Given the description of an element on the screen output the (x, y) to click on. 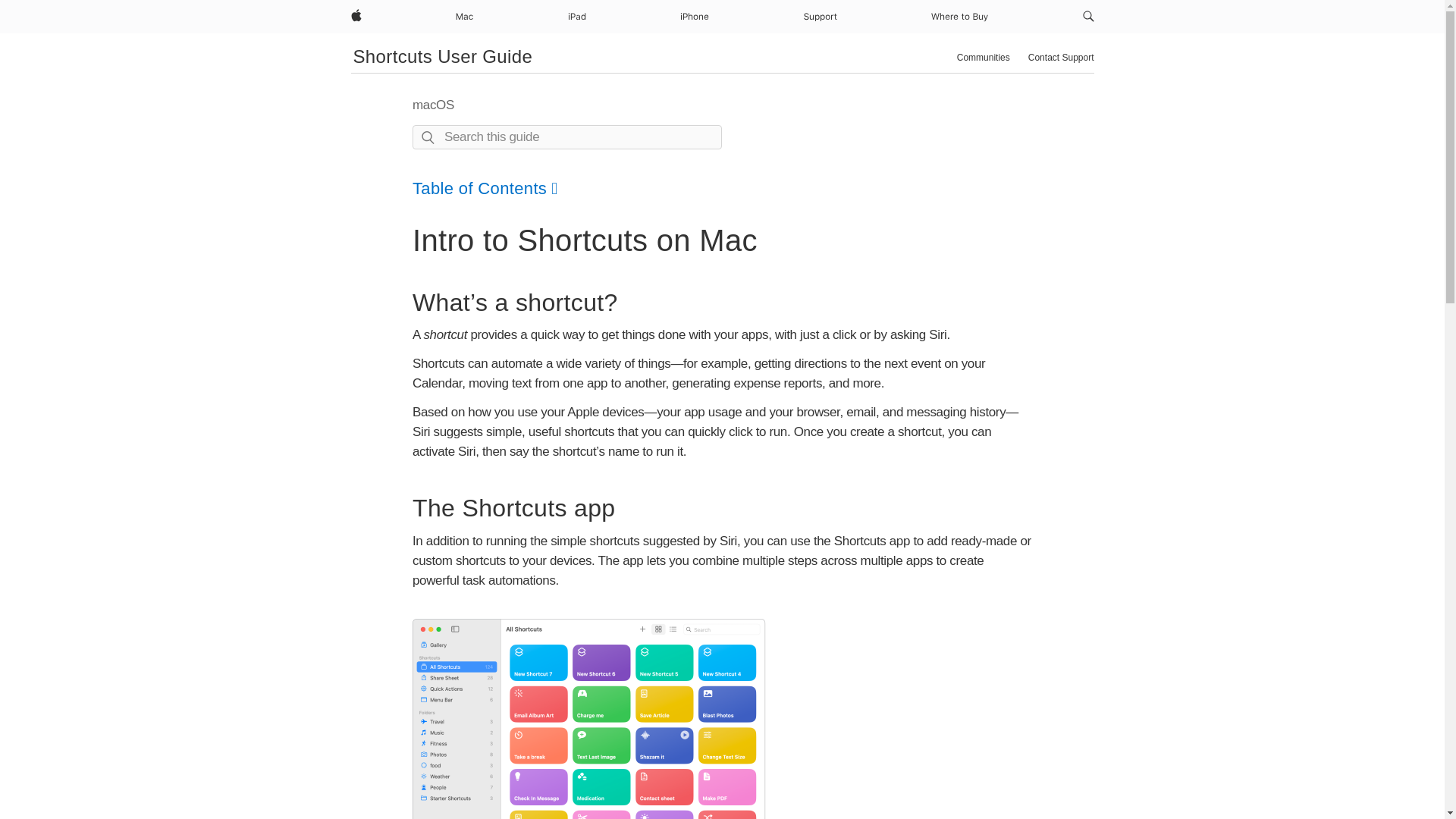
iPad (575, 16)
Support (820, 16)
iPhone (694, 16)
